Given the description of an element on the screen output the (x, y) to click on. 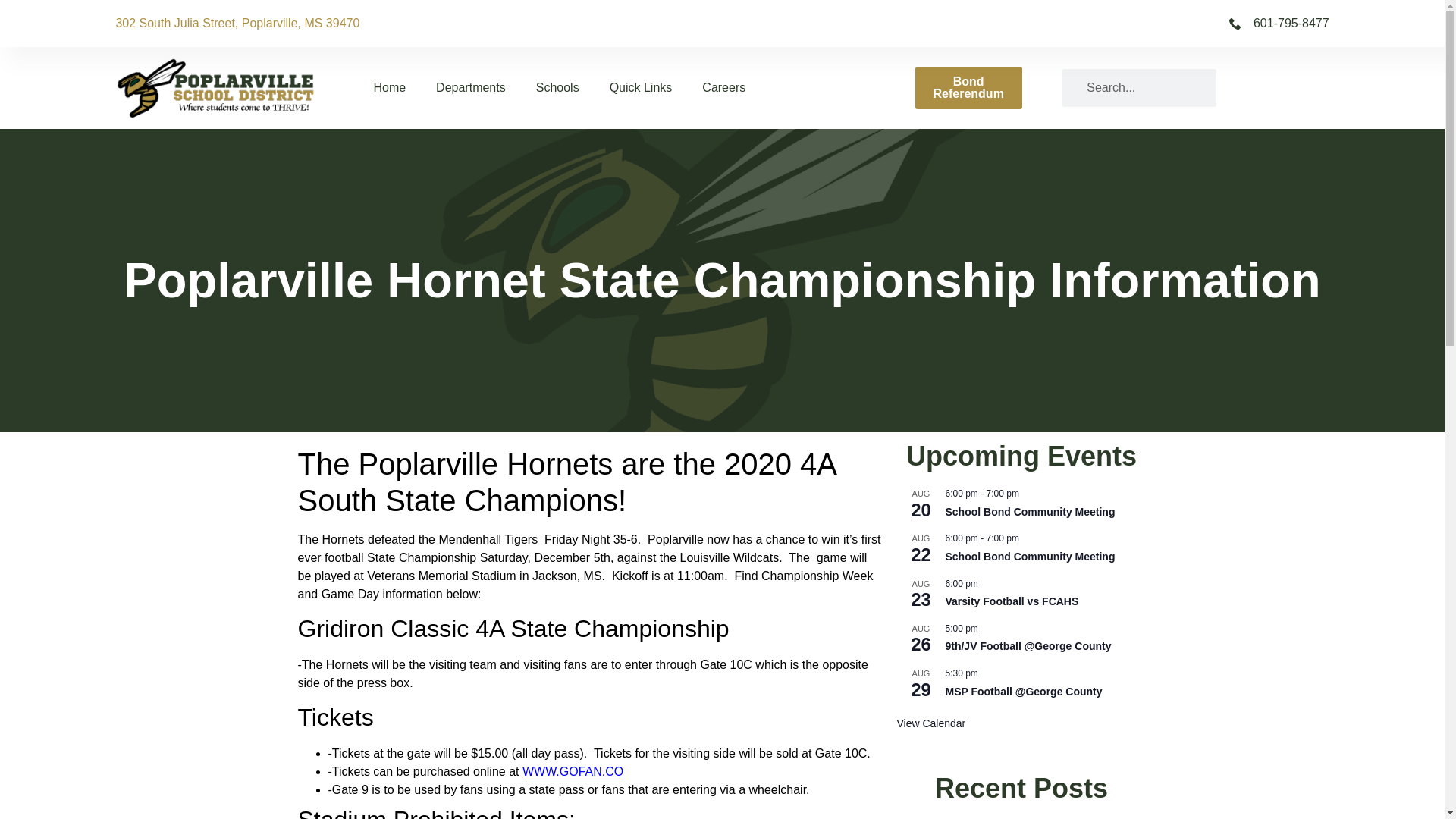
Departments (470, 88)
Varsity Football vs FCAHS (1011, 601)
Quick Links (640, 88)
View more events. (930, 723)
Careers (723, 88)
Schools (557, 88)
Home (389, 88)
601-795-8477 (1024, 23)
School Bond Community Meeting (1029, 512)
School Bond Community Meeting (1029, 556)
